Given the description of an element on the screen output the (x, y) to click on. 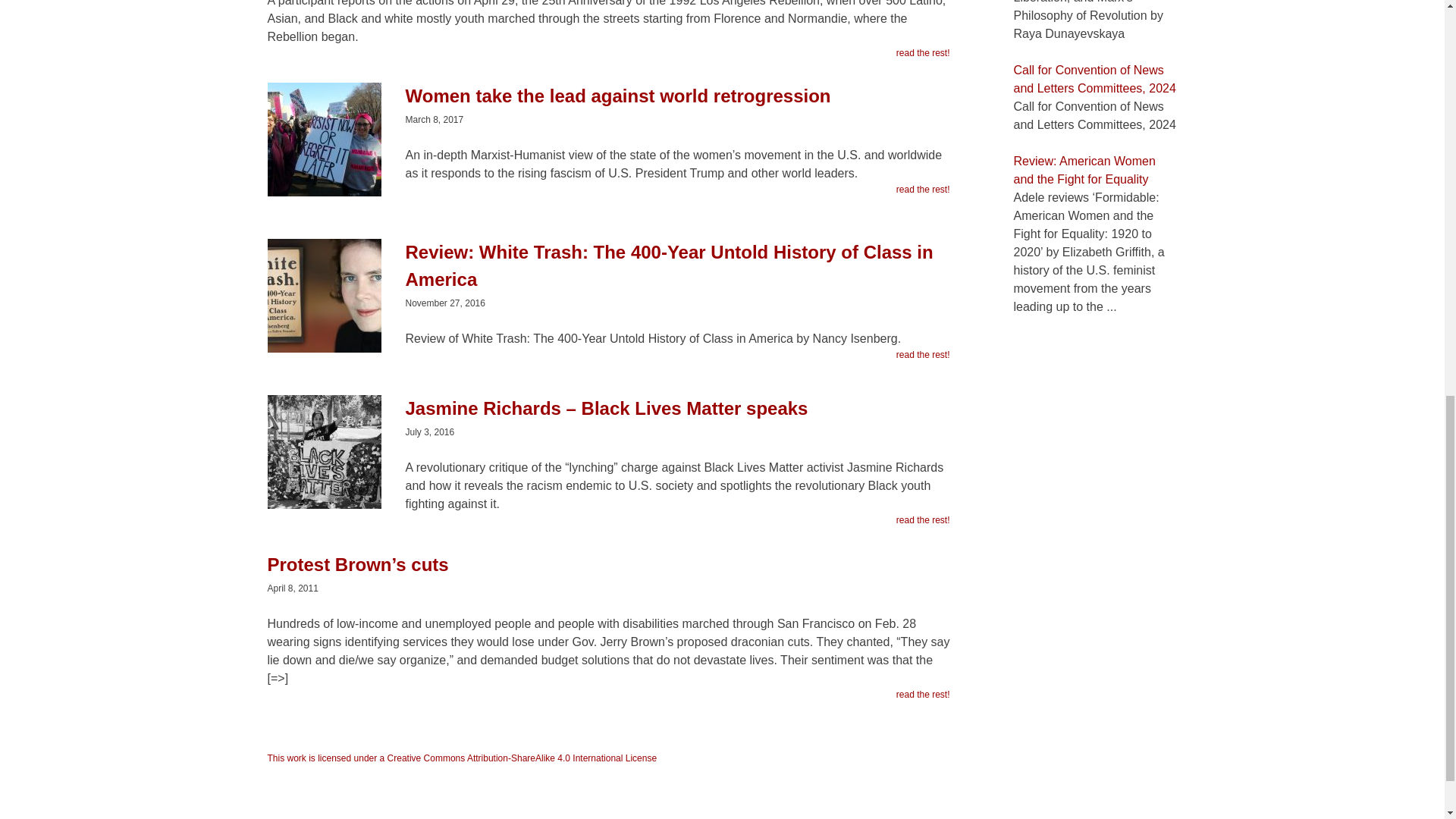
read the rest! (923, 189)
Women take the lead against world retrogression (607, 103)
read the rest! (923, 694)
Call for Convention of News and Letters Committees, 2024 (1093, 79)
read the rest! (923, 354)
read the rest! (923, 520)
read the rest! (923, 52)
Review: American Women and the Fight for Equality (1083, 169)
